Given the description of an element on the screen output the (x, y) to click on. 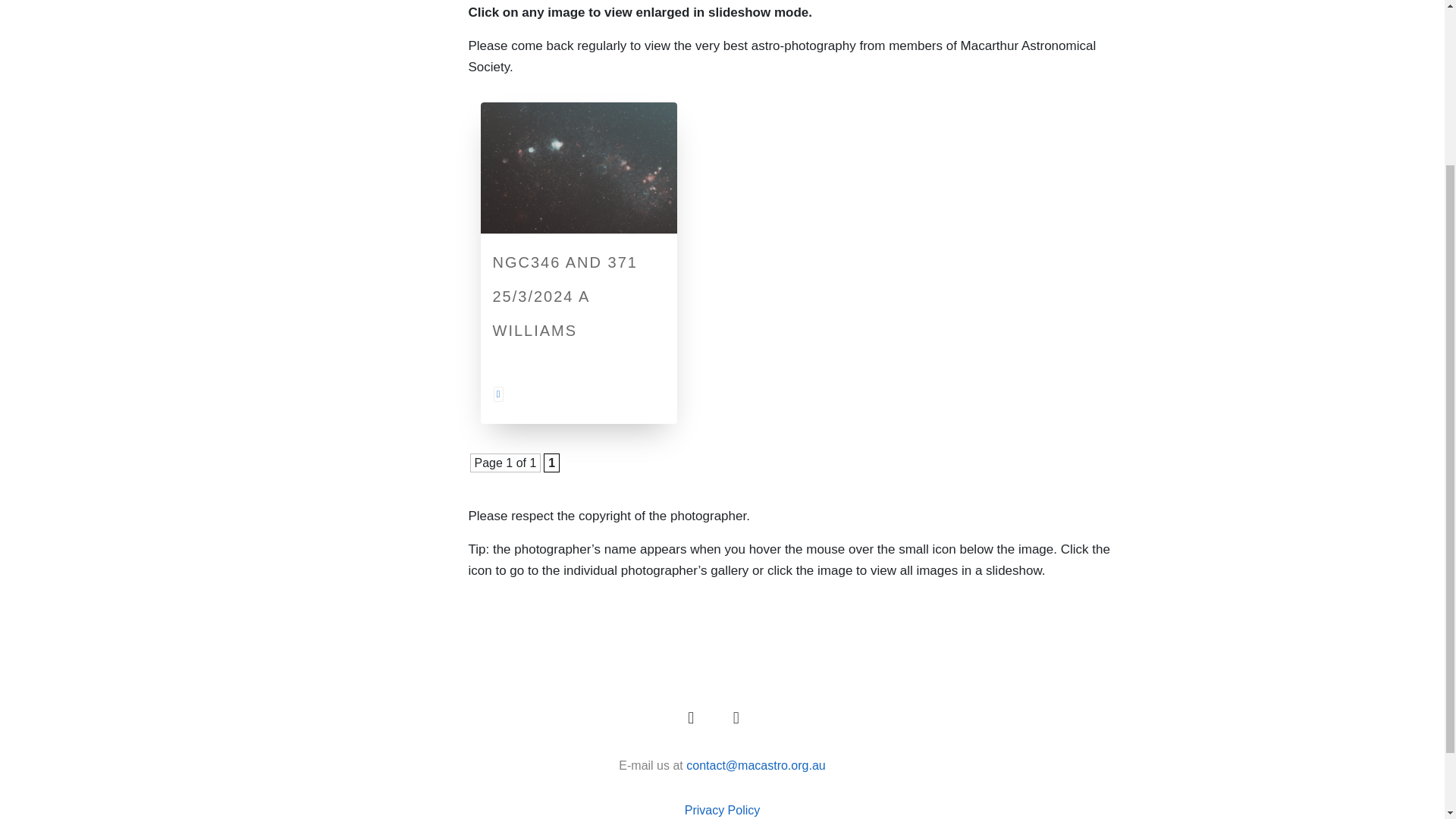
allen-williams (497, 392)
